Given the description of an element on the screen output the (x, y) to click on. 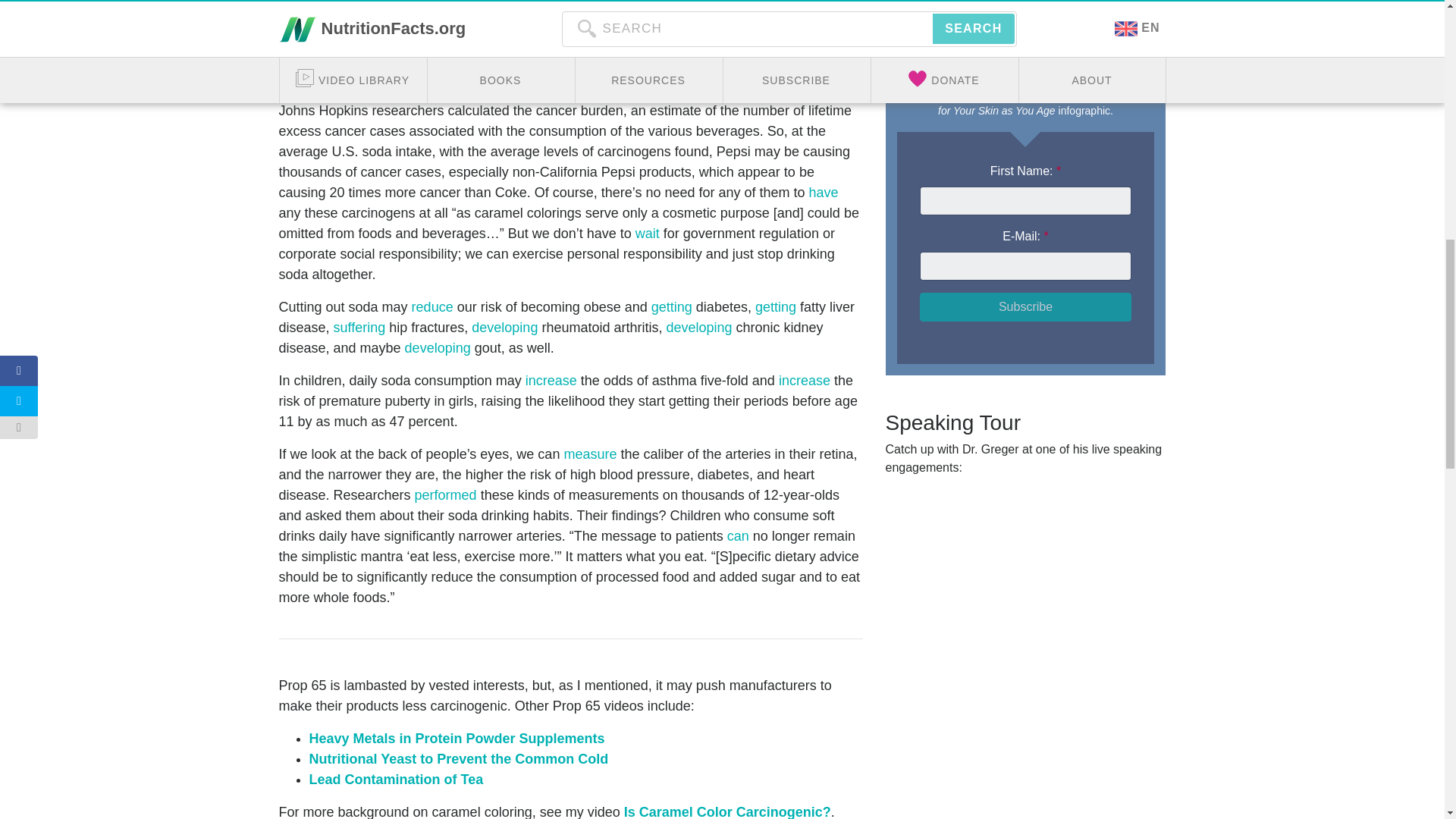
Subscribe (1024, 306)
